Given the description of an element on the screen output the (x, y) to click on. 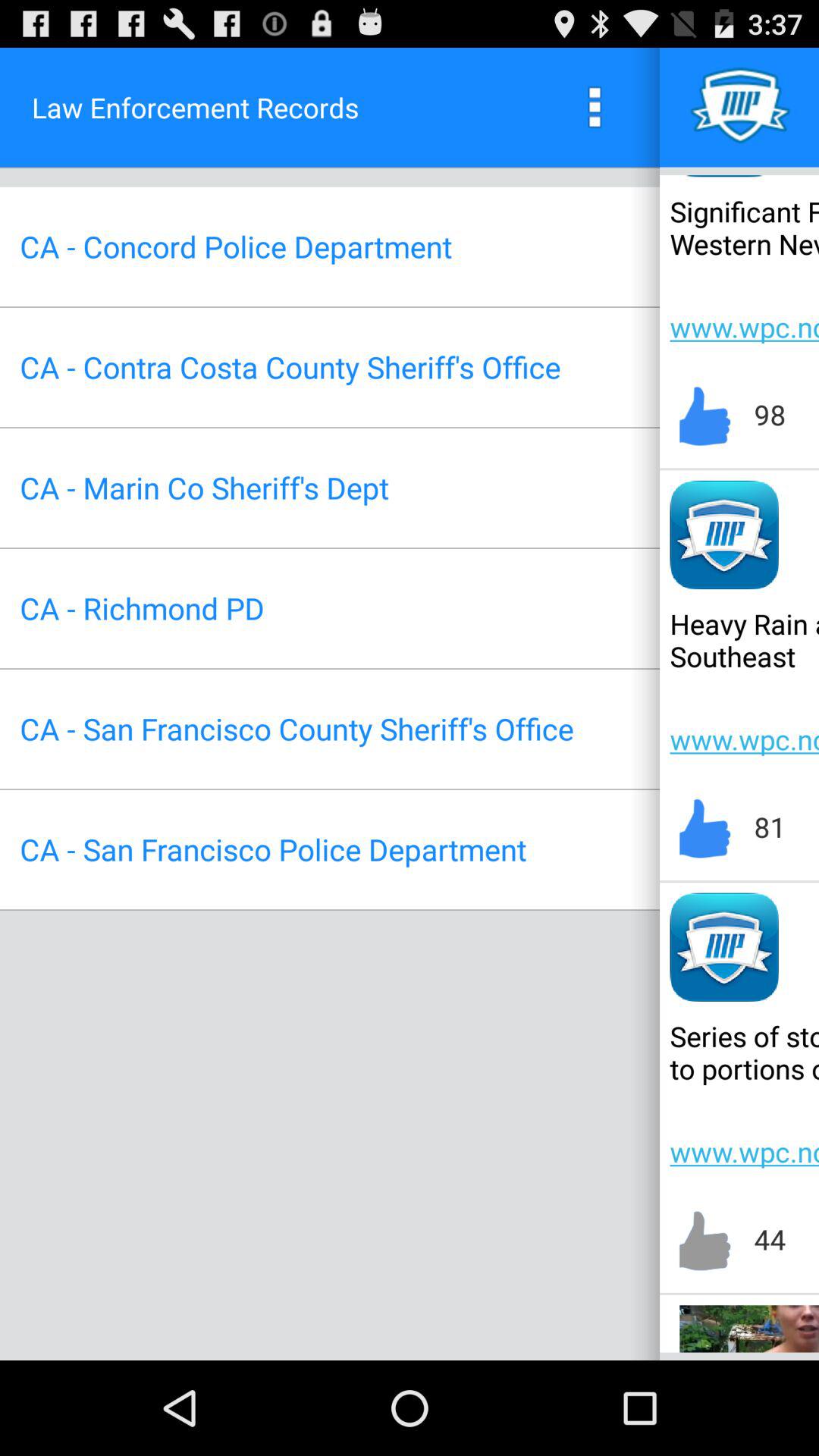
open icon above the ca - richmond pd (204, 487)
